Given the description of an element on the screen output the (x, y) to click on. 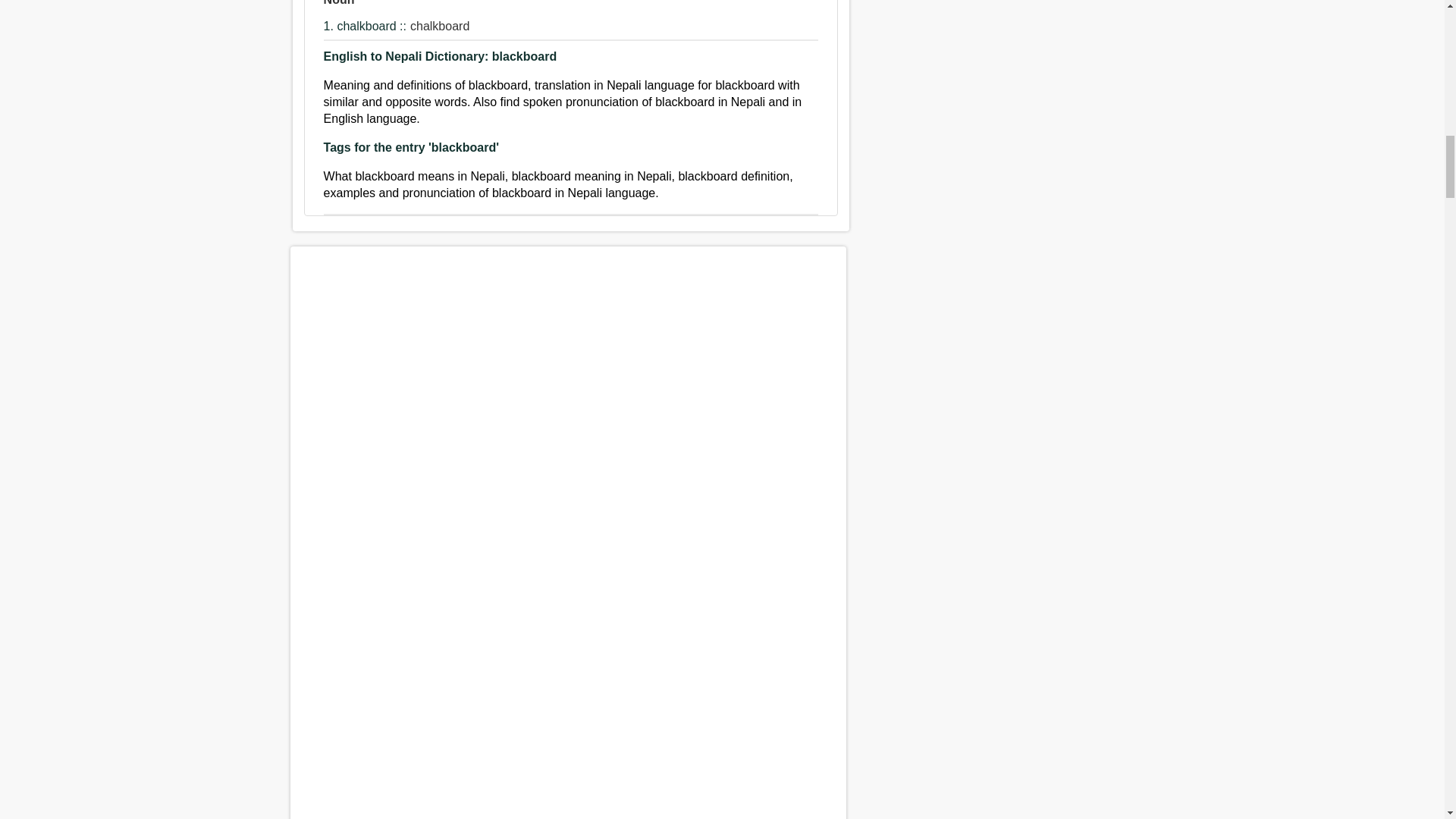
Learn Prepositions by Photos (567, 797)
